Given the description of an element on the screen output the (x, y) to click on. 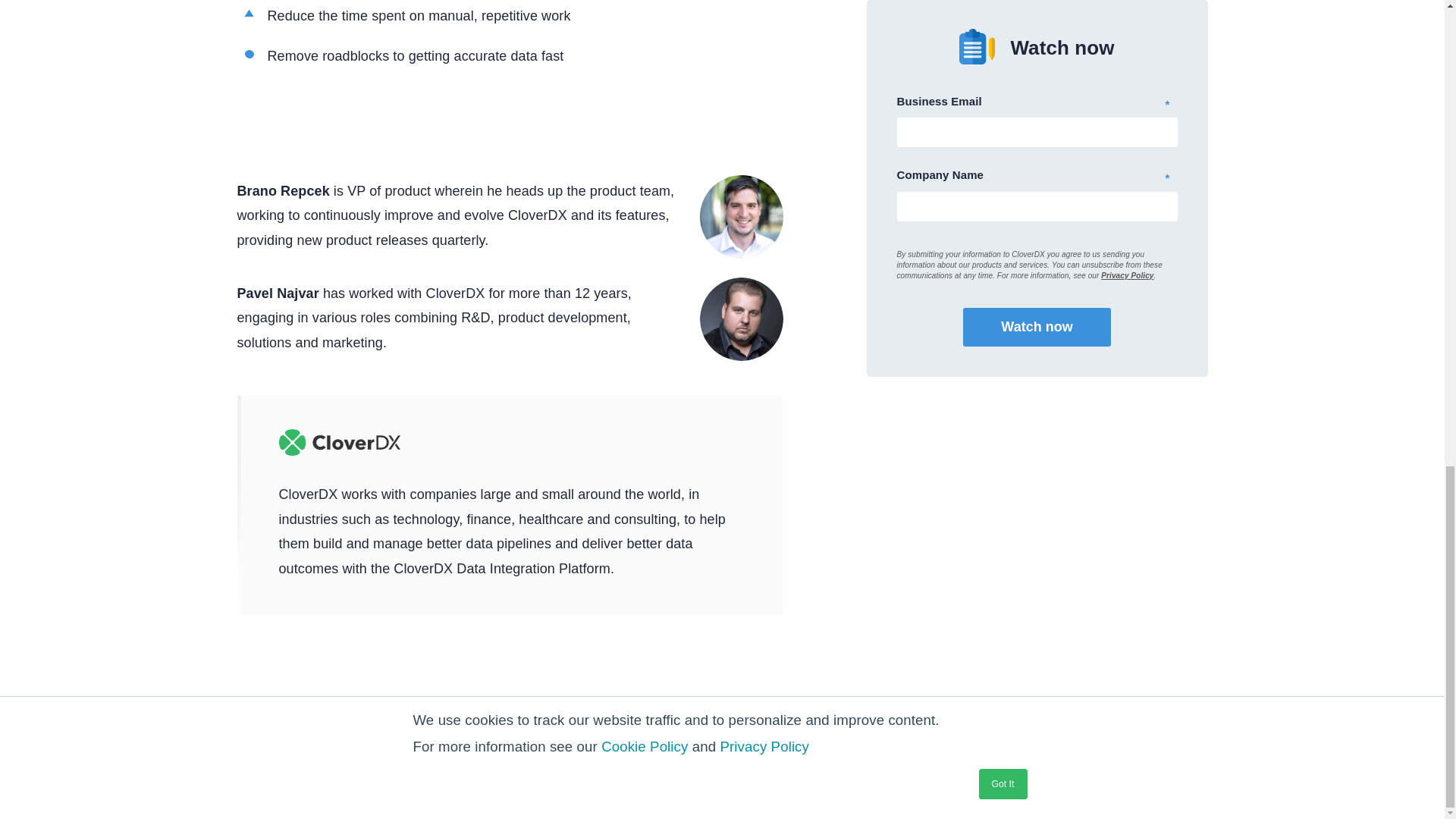
DISCOVER CloverDX (722, 773)
